Given the description of an element on the screen output the (x, y) to click on. 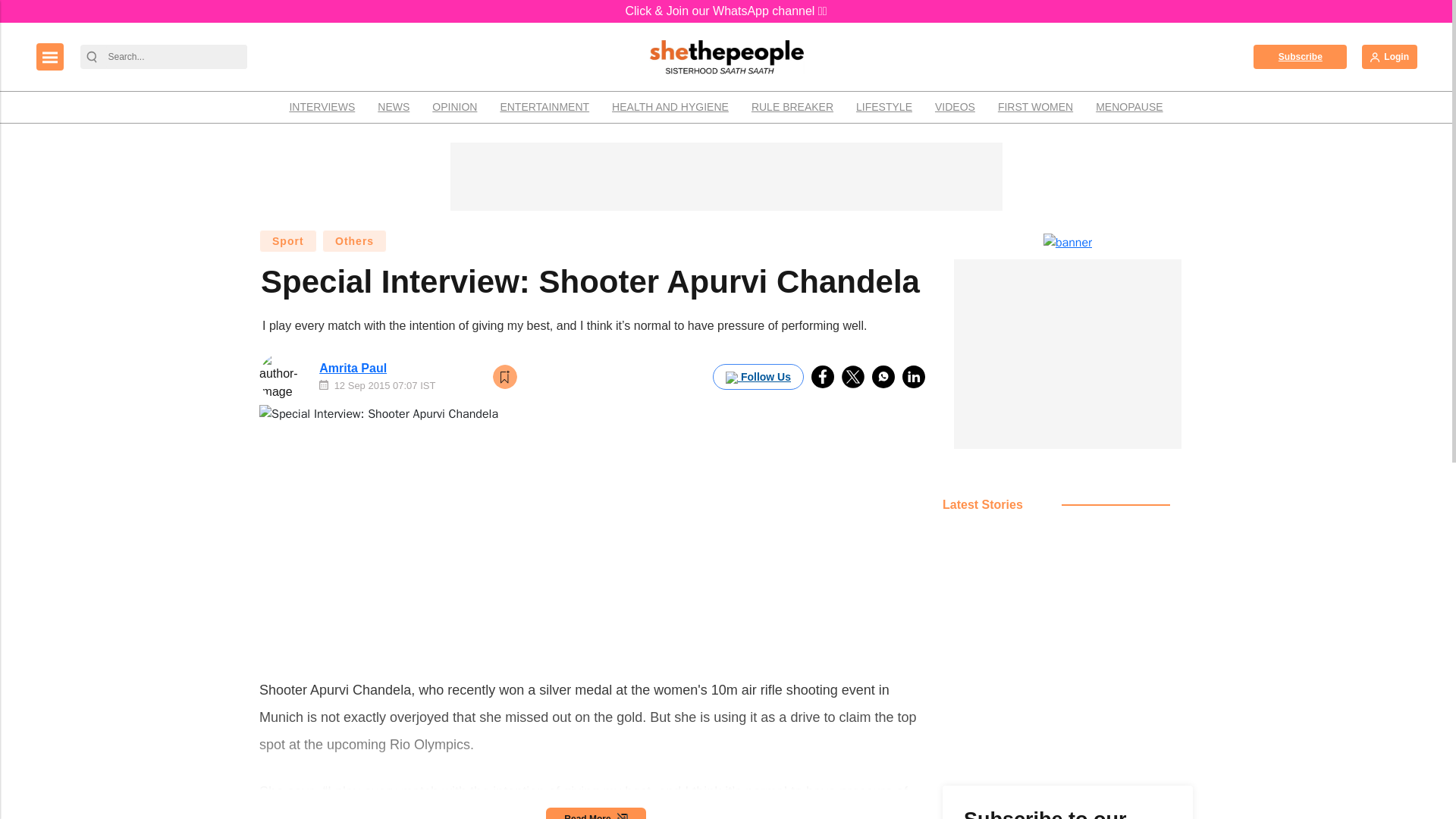
Sport (288, 241)
Others (354, 241)
ENTERTAINMENT (543, 106)
INTERVIEWS (322, 106)
Subscribe (1299, 56)
LIFESTYLE (883, 106)
Amrita Paul (352, 367)
OPINION (453, 106)
FIRST WOMEN (1035, 106)
VIDEOS (955, 106)
